Given the description of an element on the screen output the (x, y) to click on. 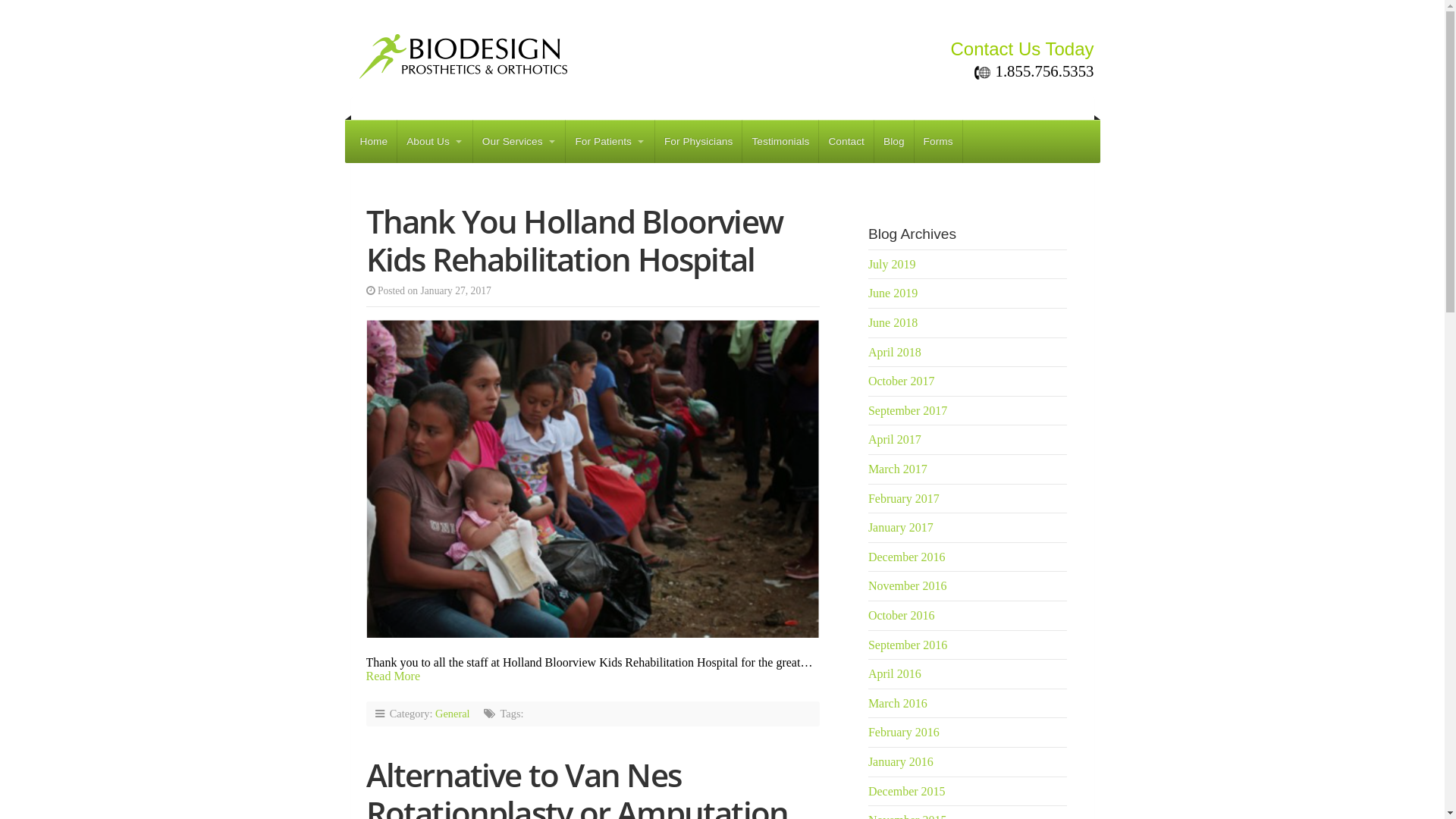
April 2016 Element type: text (894, 673)
February 2017 Element type: text (903, 498)
June 2019 Element type: text (892, 292)
December 2015 Element type: text (906, 790)
Forms Element type: text (938, 141)
March 2016 Element type: text (897, 702)
Our Services Element type: text (519, 141)
Home Element type: text (373, 141)
For Physicians Element type: text (698, 141)
January 2016 Element type: text (900, 761)
January 2017 Element type: text (900, 526)
BIODESIGN PROSTHETICS & ORTHOTICS Element type: text (624, 51)
July 2019 Element type: text (892, 263)
December 2016 Element type: text (906, 556)
April 2017 Element type: text (894, 439)
Testimonials Element type: text (780, 141)
General Element type: text (452, 713)
Read More Element type: text (392, 675)
February 2016 Element type: text (903, 731)
Contact Element type: text (846, 141)
For Patients Element type: text (609, 141)
September 2016 Element type: text (907, 644)
Blog Element type: text (893, 141)
October 2017 Element type: text (901, 380)
June 2018 Element type: text (892, 322)
Contact Us Today Element type: text (1012, 49)
About Us Element type: text (434, 141)
Thank You Holland Bloorview Kids Rehabilitation Hospital Element type: text (573, 240)
September 2017 Element type: text (907, 410)
April 2018 Element type: text (894, 351)
October 2016 Element type: text (901, 614)
November 2016 Element type: text (907, 585)
March 2017 Element type: text (897, 468)
